Given the description of an element on the screen output the (x, y) to click on. 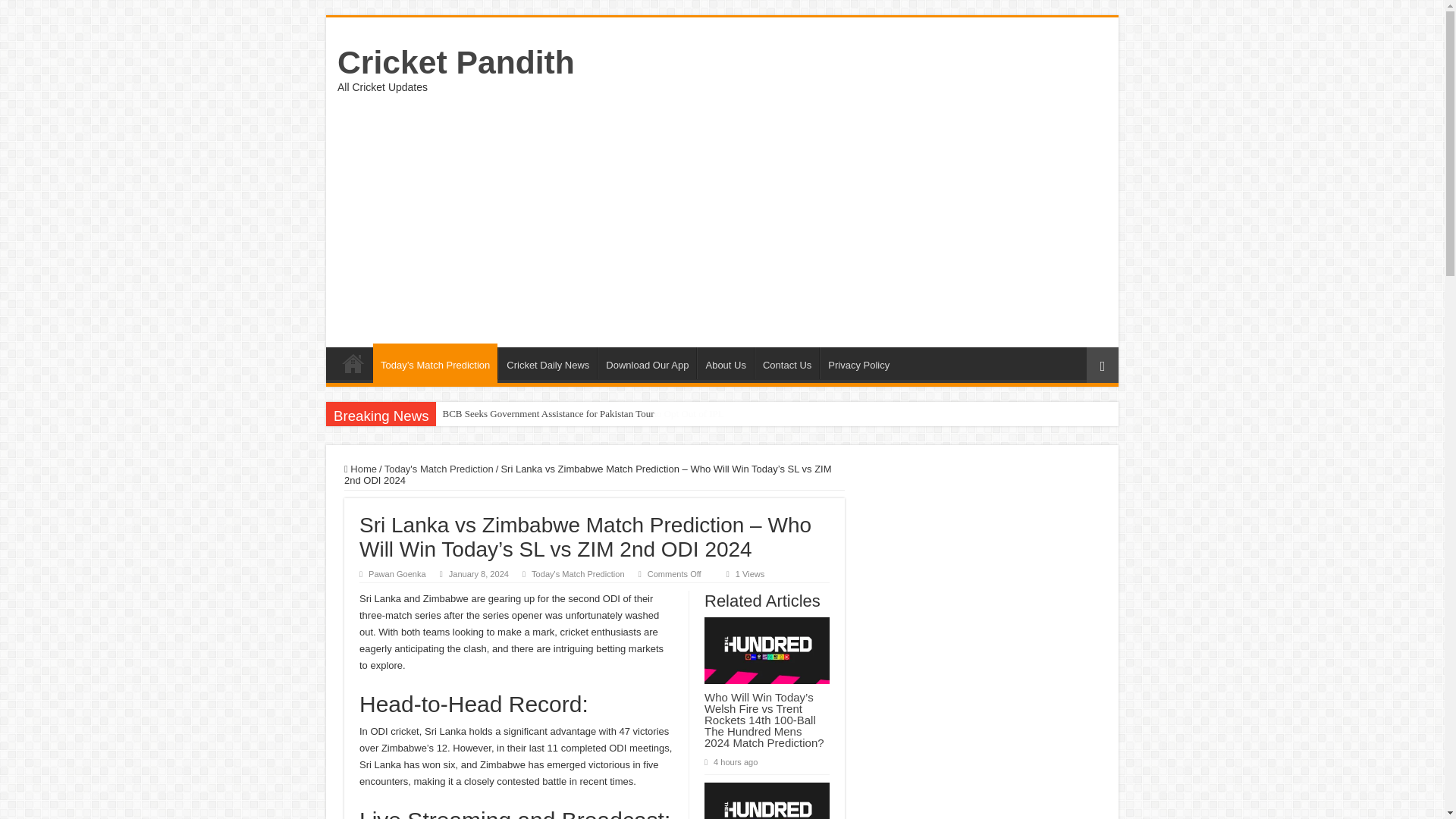
Today's Match Prediction (577, 573)
Today's Match Prediction (438, 469)
Privacy Policy (857, 363)
Home (352, 363)
Home (360, 469)
Download Our App (645, 363)
Cricket Daily News (546, 363)
BCB Seeks Government Assistance for Pakistan Tour (547, 413)
About Us (724, 363)
Contact Us (786, 363)
BCB Seeks Government Assistance for Pakistan Tour (547, 413)
Cricket Pandith (456, 62)
